Given the description of an element on the screen output the (x, y) to click on. 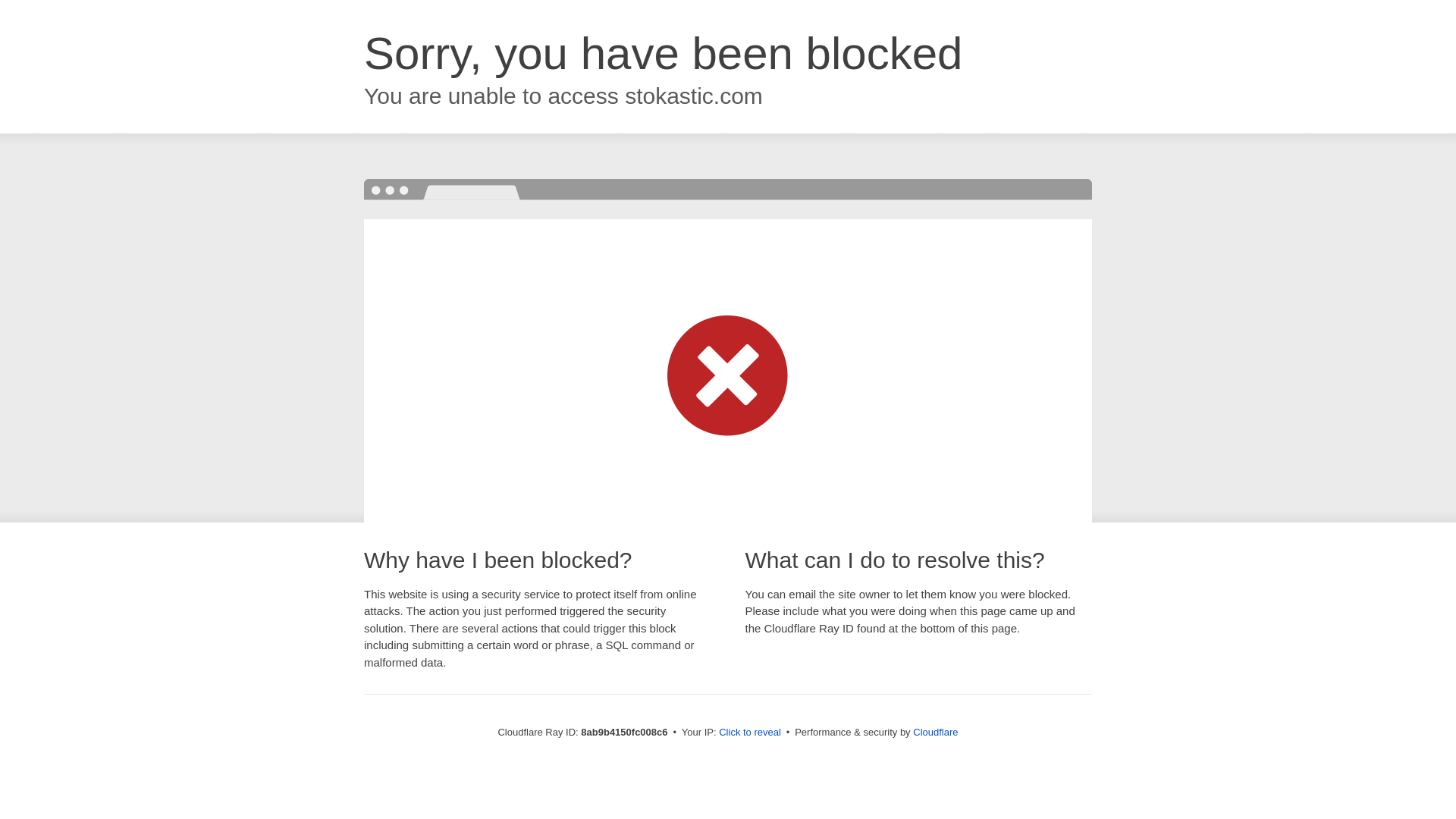
Click to reveal (749, 732)
Cloudflare (935, 731)
